Given the description of an element on the screen output the (x, y) to click on. 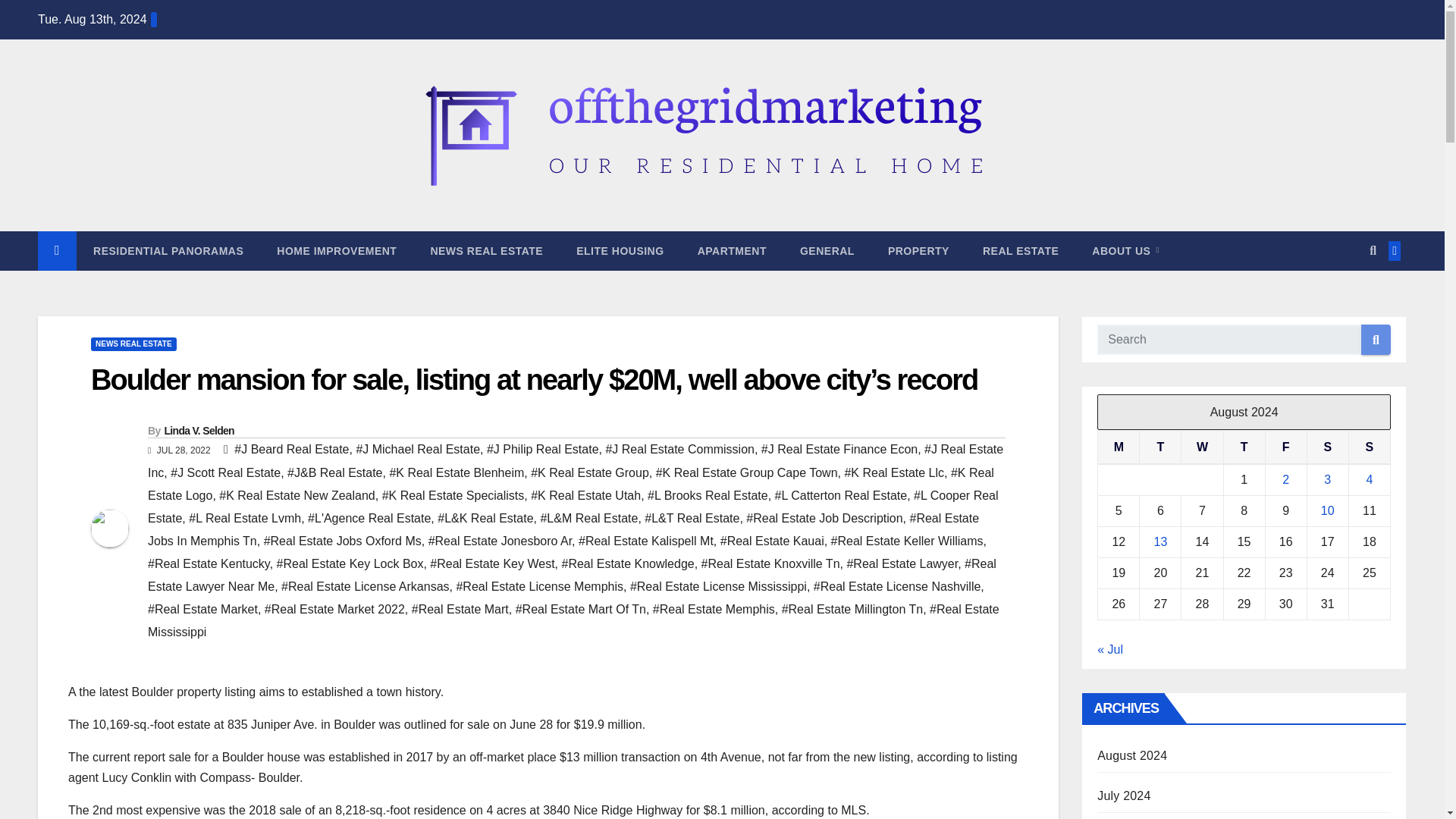
NEWS REAL ESTATE (133, 344)
NEWS REAL ESTATE (486, 250)
ABOUT US (1124, 250)
REAL ESTATE (1020, 250)
Linda V. Selden (197, 430)
Home Improvement (336, 250)
Property (918, 250)
General (826, 250)
ELITE HOUSING (619, 250)
Elite Housing (619, 250)
